Given the description of an element on the screen output the (x, y) to click on. 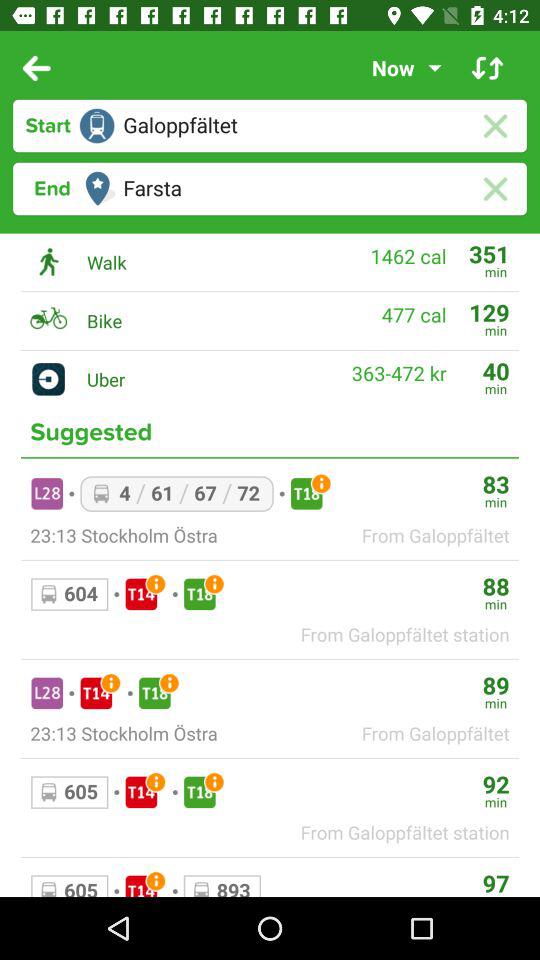
refresh button (487, 68)
